Given the description of an element on the screen output the (x, y) to click on. 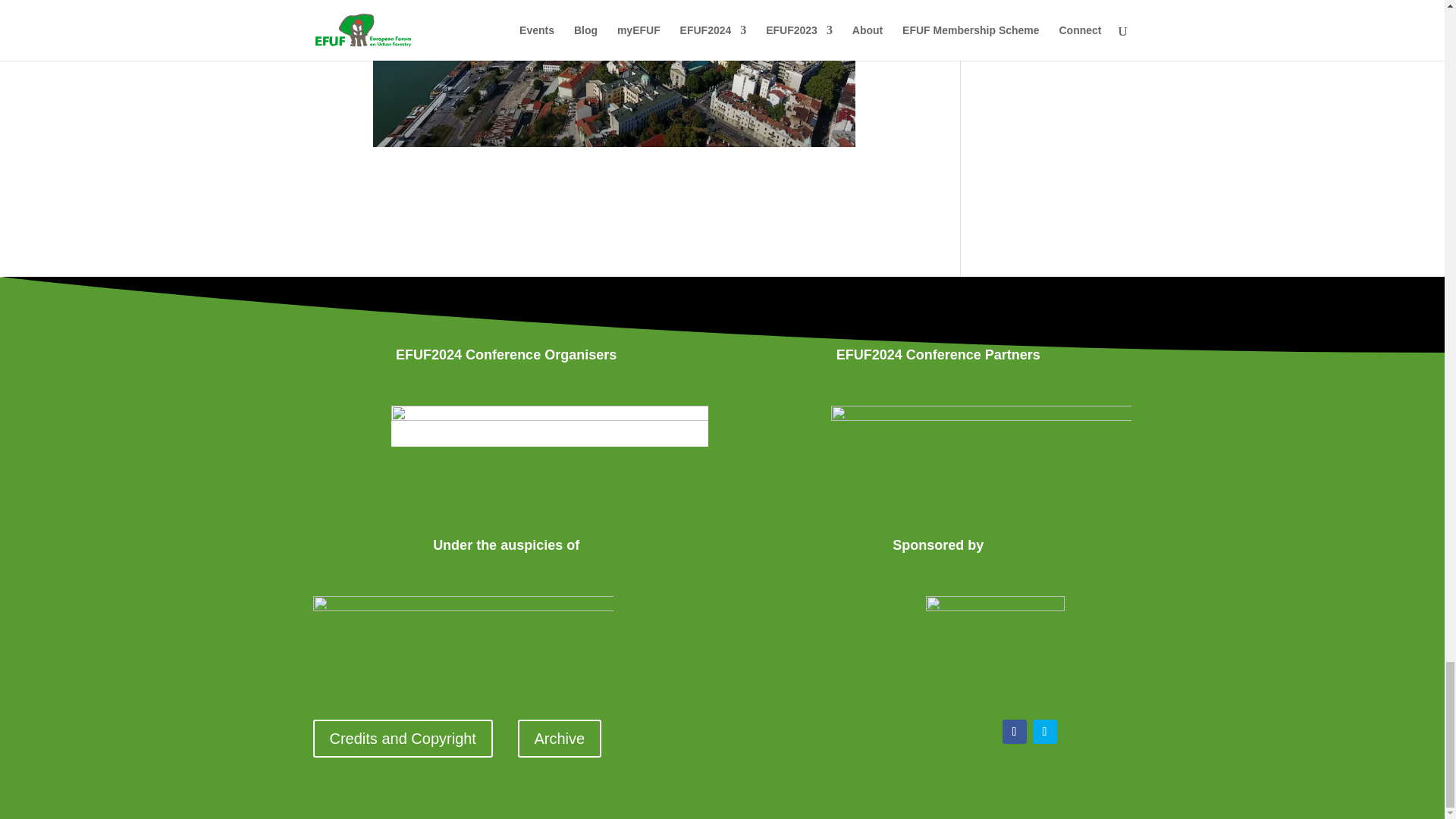
Zagreb Tourist (995, 644)
Follow on Facebook (1014, 731)
Follow on Twitter (1044, 731)
Zagreb-IUFRO (462, 627)
